Given the description of an element on the screen output the (x, y) to click on. 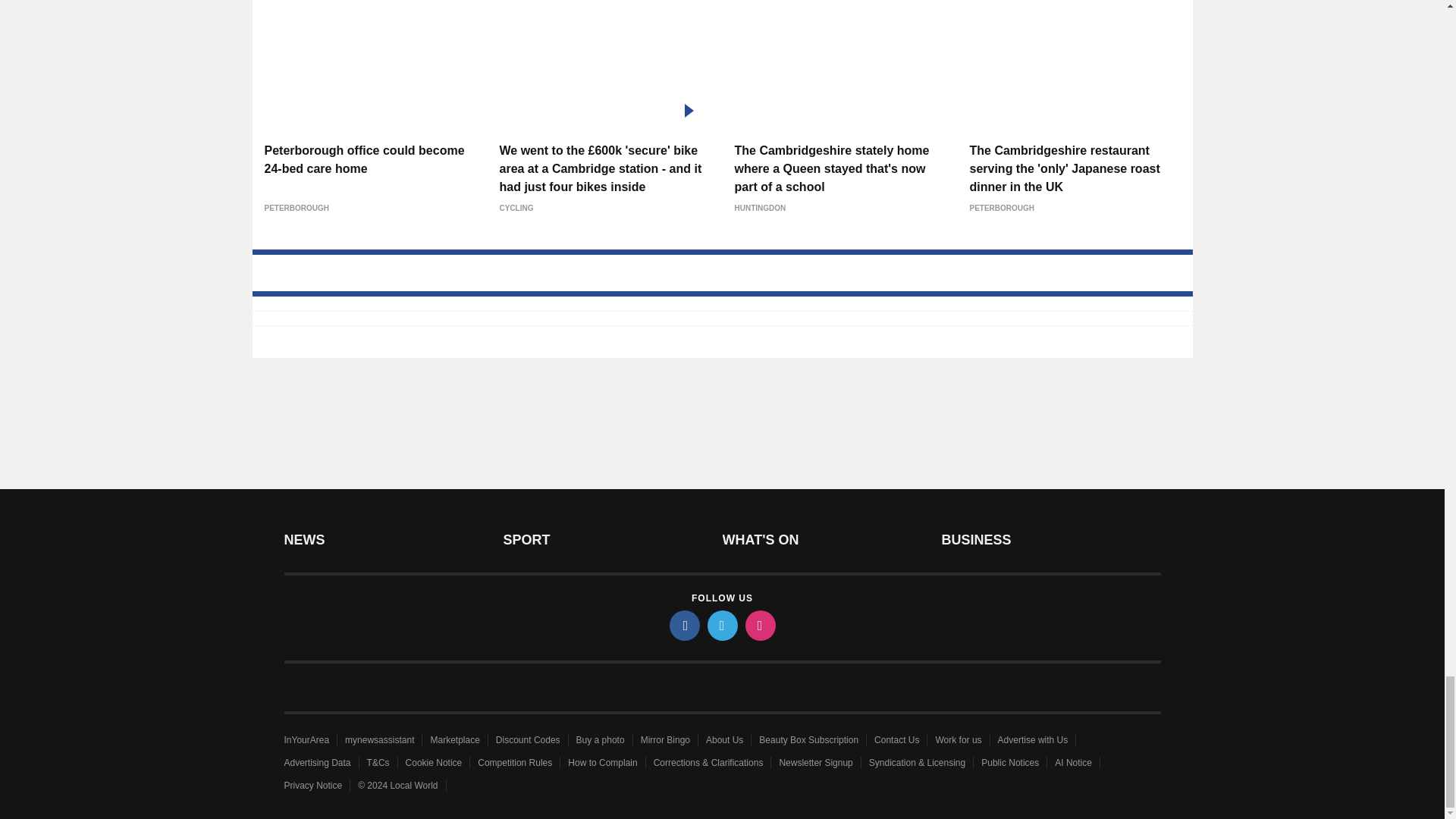
instagram (759, 625)
twitter (721, 625)
facebook (683, 625)
